Given the description of an element on the screen output the (x, y) to click on. 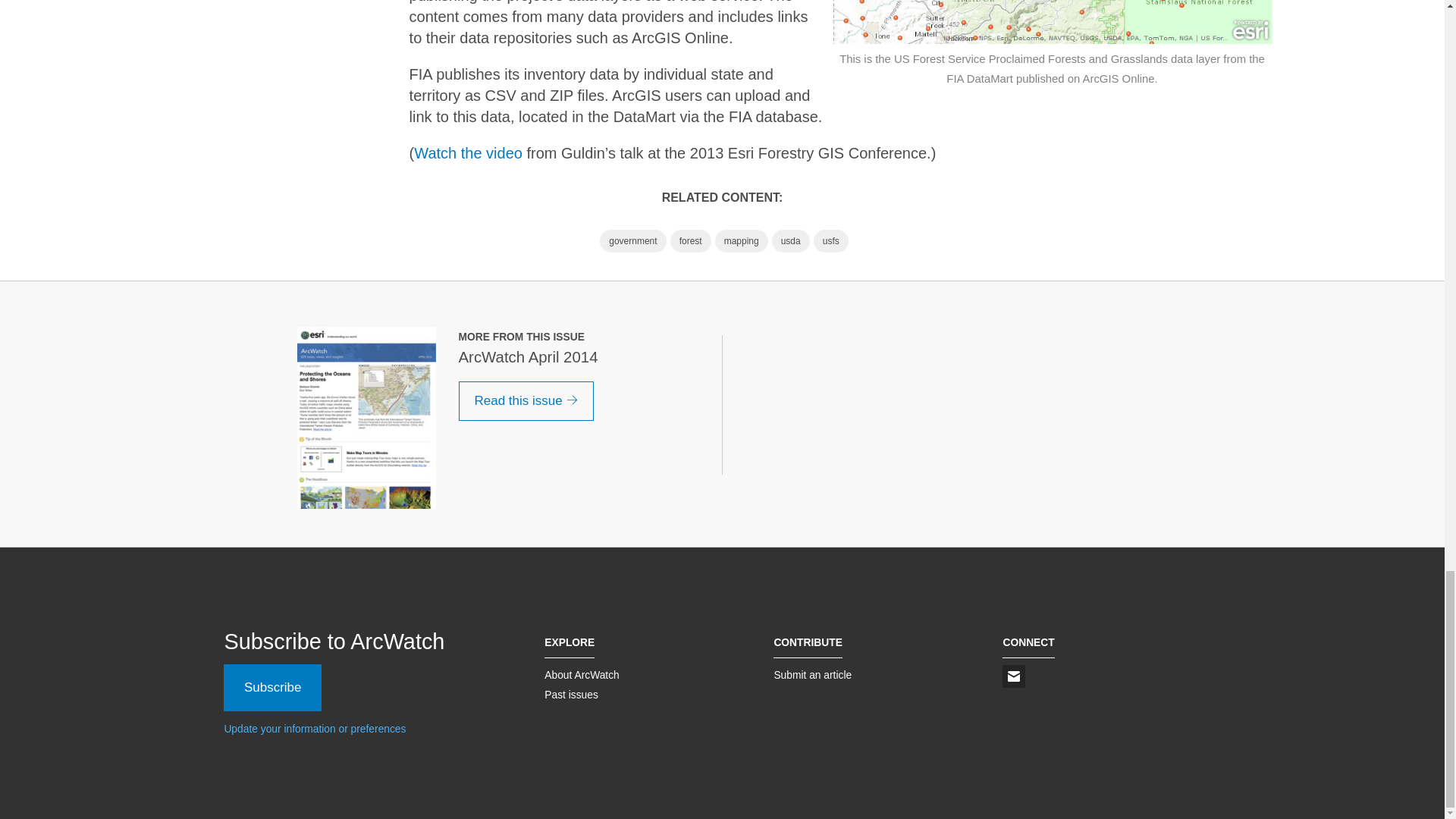
usfs (830, 241)
Subscribe (272, 687)
About ArcWatch (581, 674)
Update your information or preferences (315, 728)
forest (690, 241)
Submit an article (812, 674)
Read this issue (526, 400)
Past issues (571, 694)
mapping (741, 241)
